Given the description of an element on the screen output the (x, y) to click on. 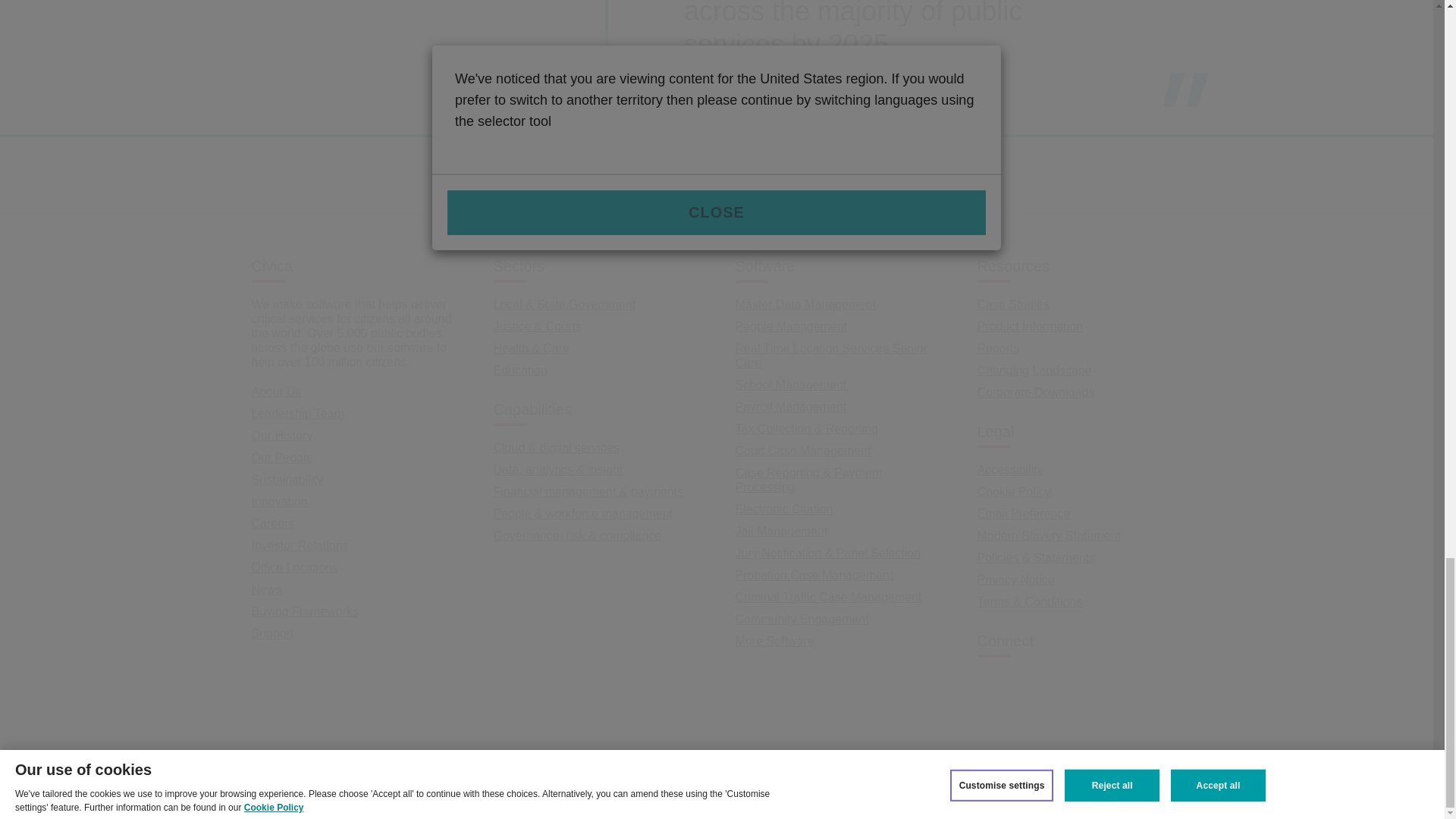
Education (520, 369)
Investor Relations (300, 545)
About Us (276, 391)
Innovation (279, 501)
Support (272, 633)
Our People (282, 457)
Buying Frameworks (304, 611)
Our History (282, 435)
Sustainability (287, 479)
Office Locations (294, 567)
Careers (273, 522)
Leadership Team (297, 413)
News (266, 589)
